Given the description of an element on the screen output the (x, y) to click on. 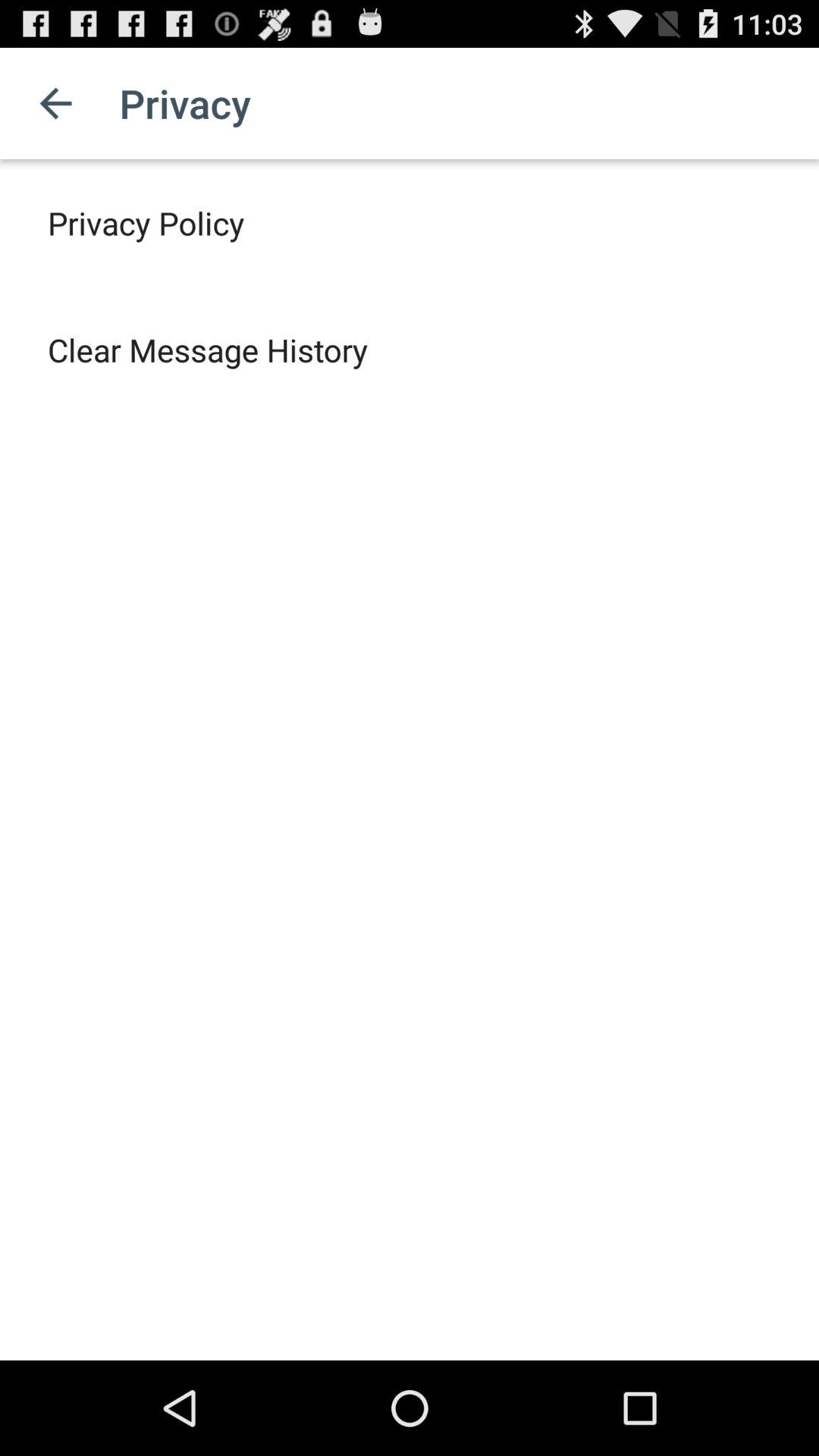
click the item next to the privacy app (55, 103)
